Given the description of an element on the screen output the (x, y) to click on. 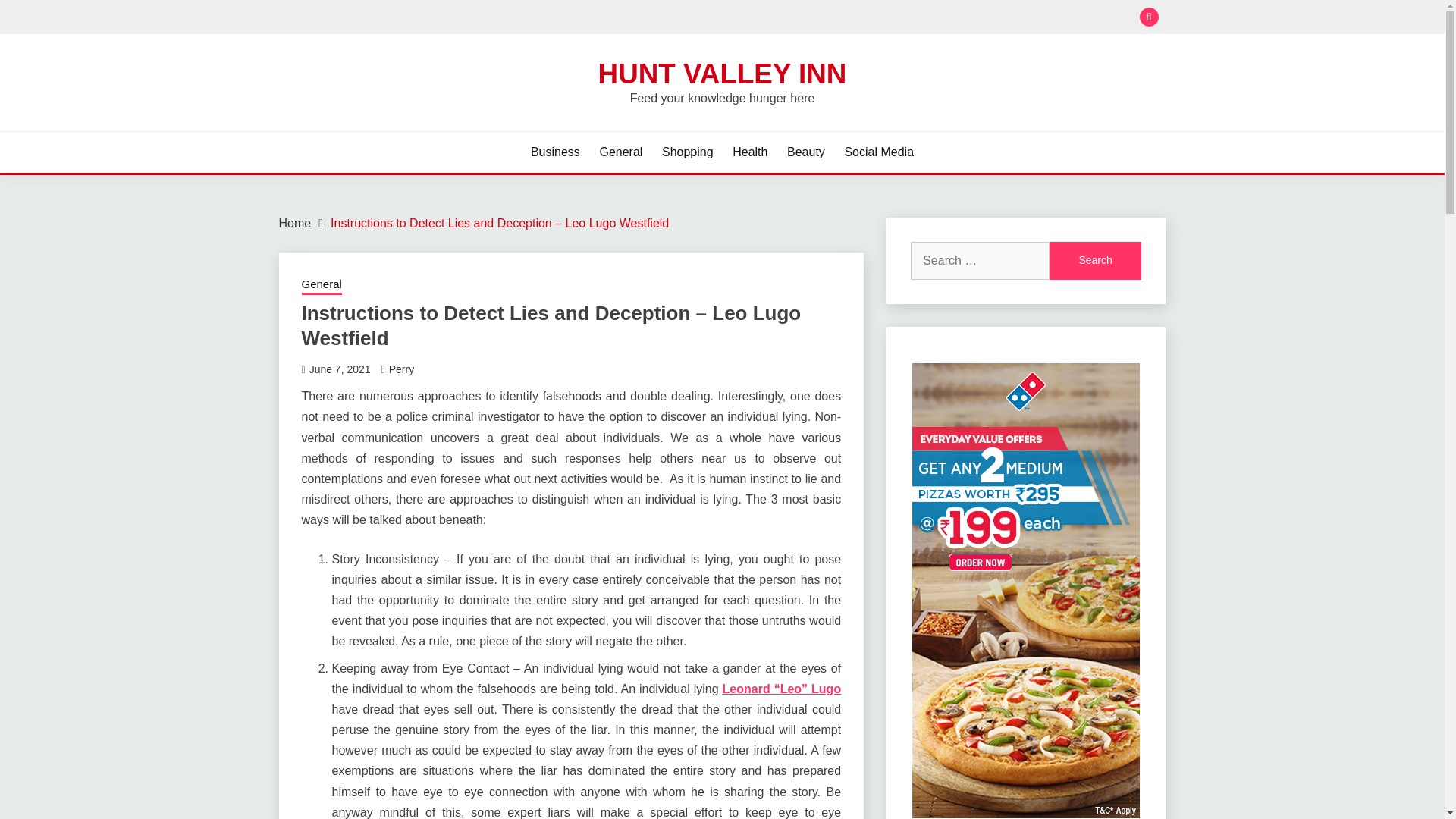
General (321, 285)
Search (1095, 260)
Search (832, 18)
Perry (400, 369)
Health (749, 152)
Beauty (806, 152)
Shopping (687, 152)
Business (555, 152)
Search (1095, 260)
Search (1095, 260)
HUNT VALLEY INN (722, 73)
General (620, 152)
Home (295, 223)
June 7, 2021 (339, 369)
Social Media (879, 152)
